Given the description of an element on the screen output the (x, y) to click on. 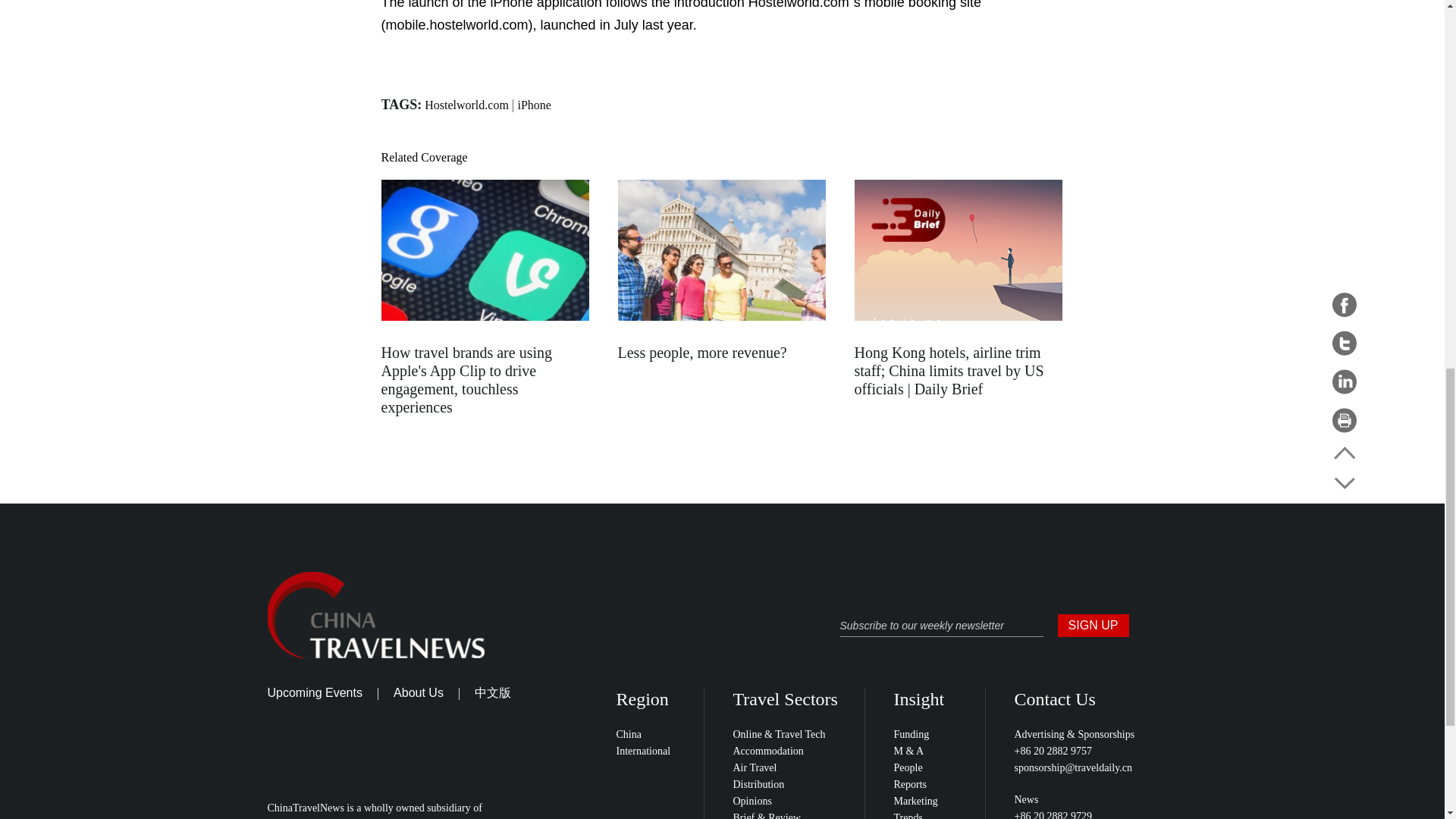
SIGN UP (1092, 625)
About Us (418, 692)
Hostelworld.com (466, 104)
Upcoming Events (313, 692)
iPhone (533, 104)
Less people, more revenue? (701, 352)
